Given the description of an element on the screen output the (x, y) to click on. 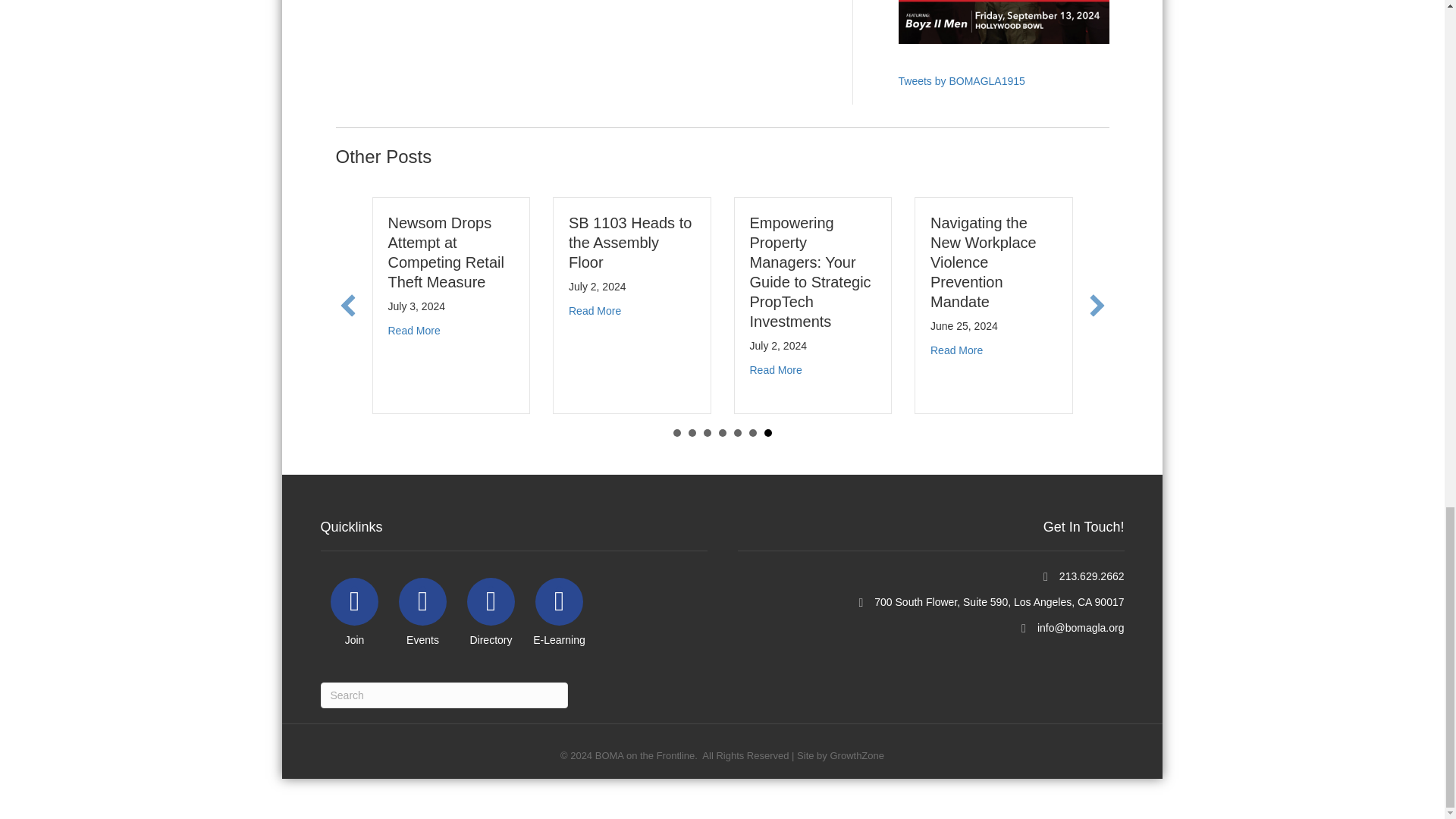
Read More (414, 330)
Tweets by BOMAGLA1915 (961, 80)
SB 1103 Heads to the Assembly Floor (630, 242)
Read More (775, 369)
Newsom Drops Attempt at Competing Retail Theft Measure  (445, 252)
Read More (595, 310)
